Given the description of an element on the screen output the (x, y) to click on. 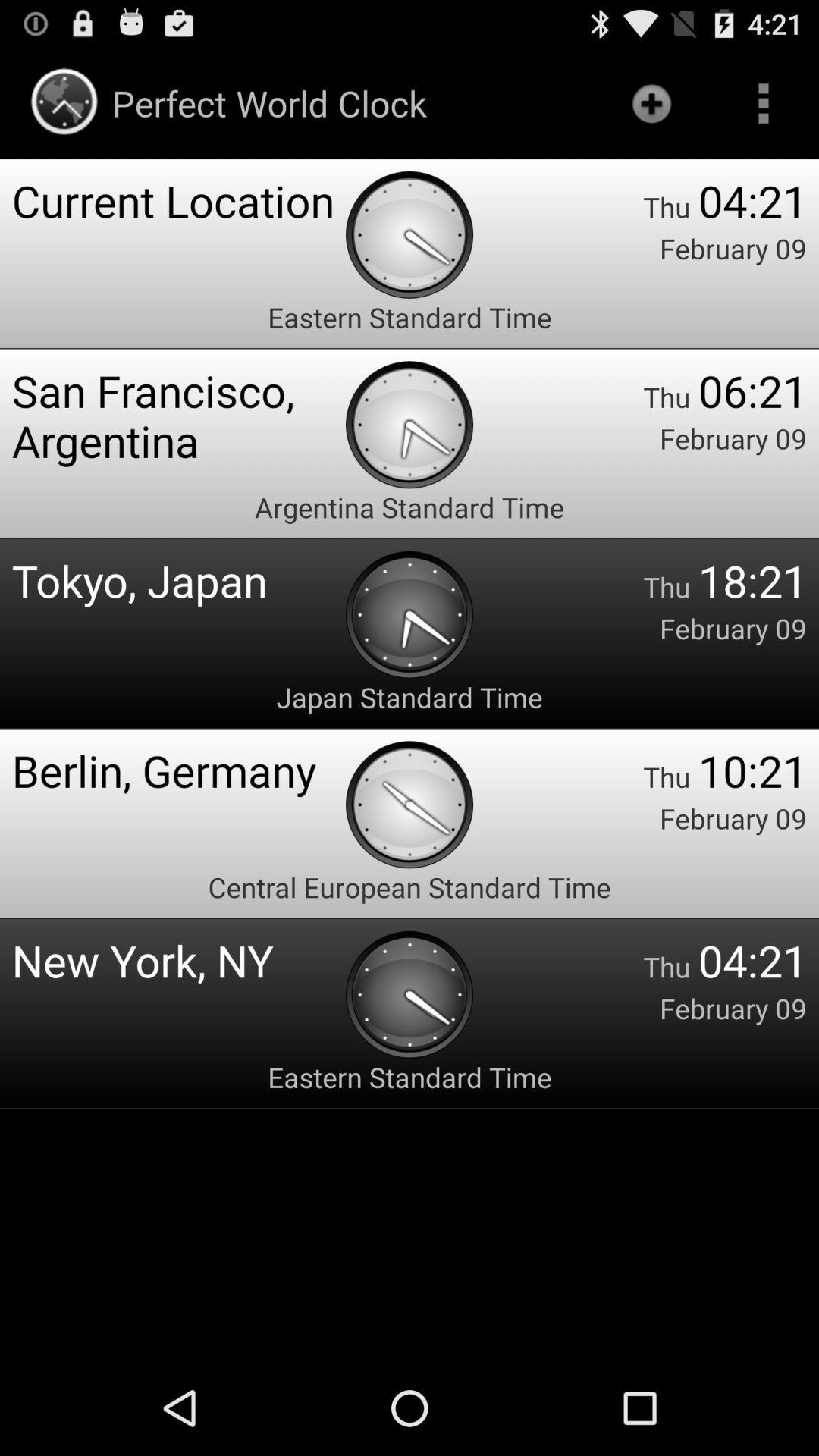
press current location (178, 200)
